Given the description of an element on the screen output the (x, y) to click on. 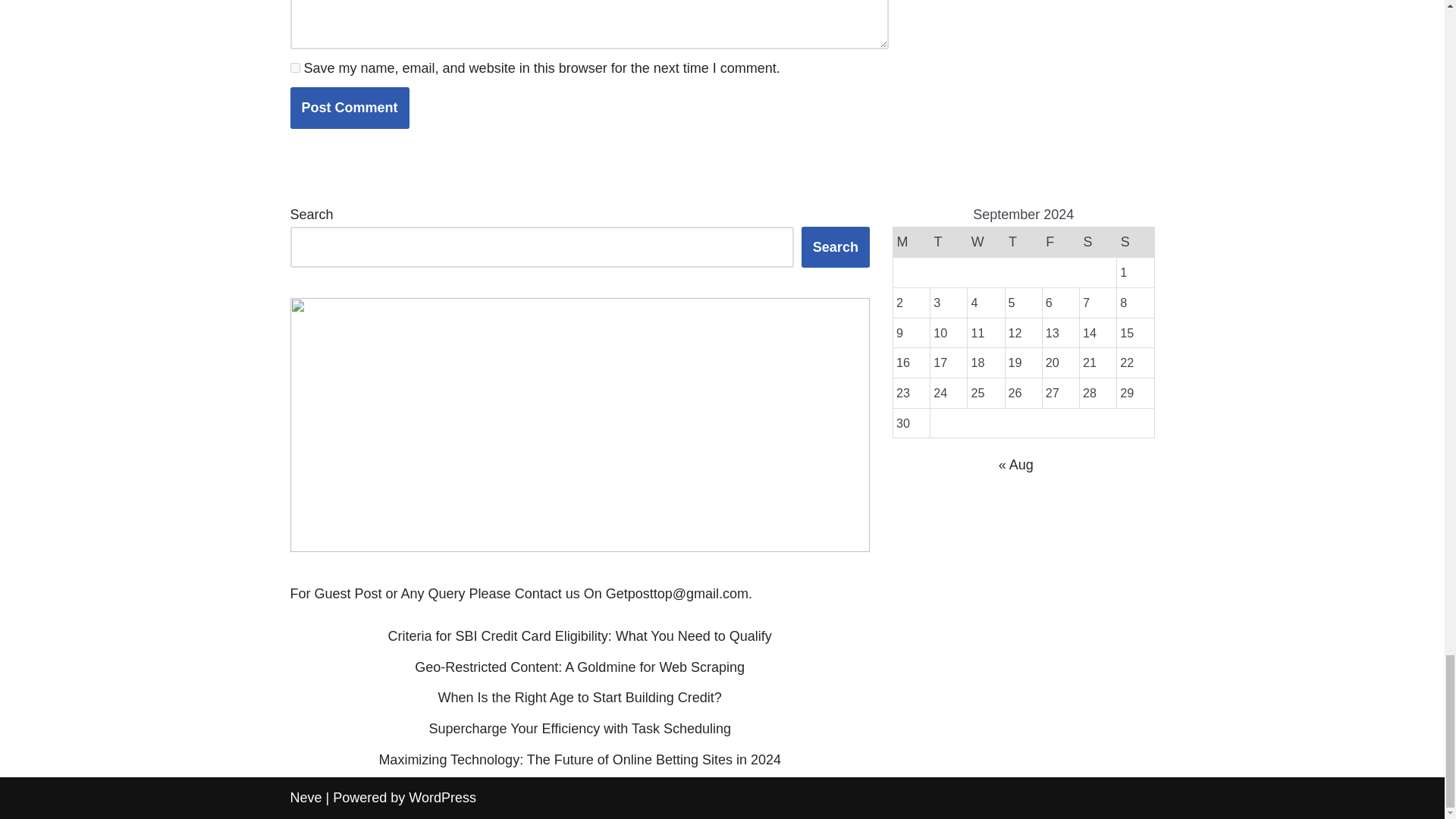
Monday (911, 241)
Friday (1060, 241)
Sunday (1135, 241)
yes (294, 67)
Thursday (1023, 241)
Wednesday (986, 241)
Tuesday (949, 241)
Post Comment (349, 107)
Saturday (1097, 241)
